Given the description of an element on the screen output the (x, y) to click on. 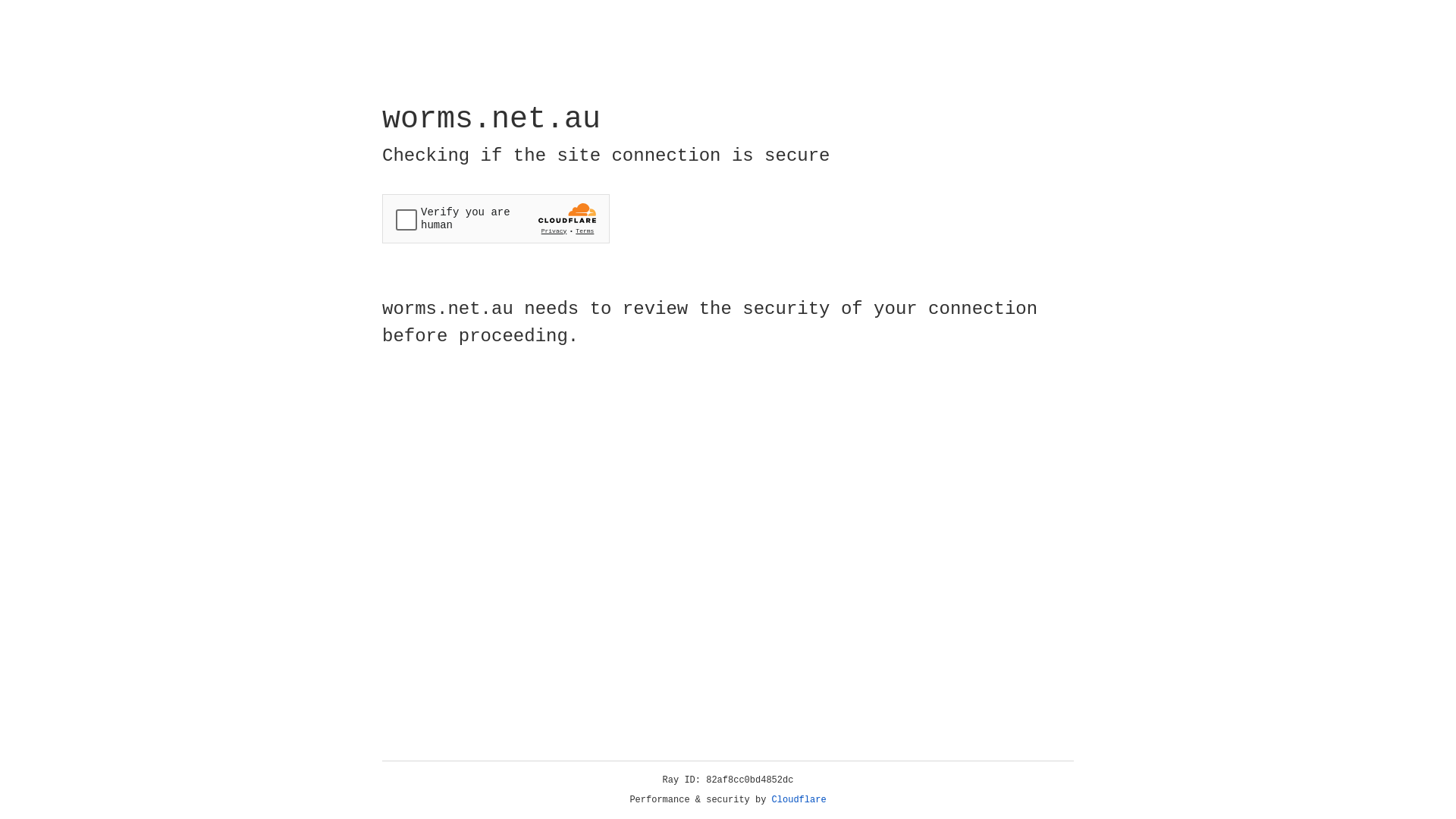
Cloudflare Element type: text (798, 799)
Widget containing a Cloudflare security challenge Element type: hover (495, 218)
